Given the description of an element on the screen output the (x, y) to click on. 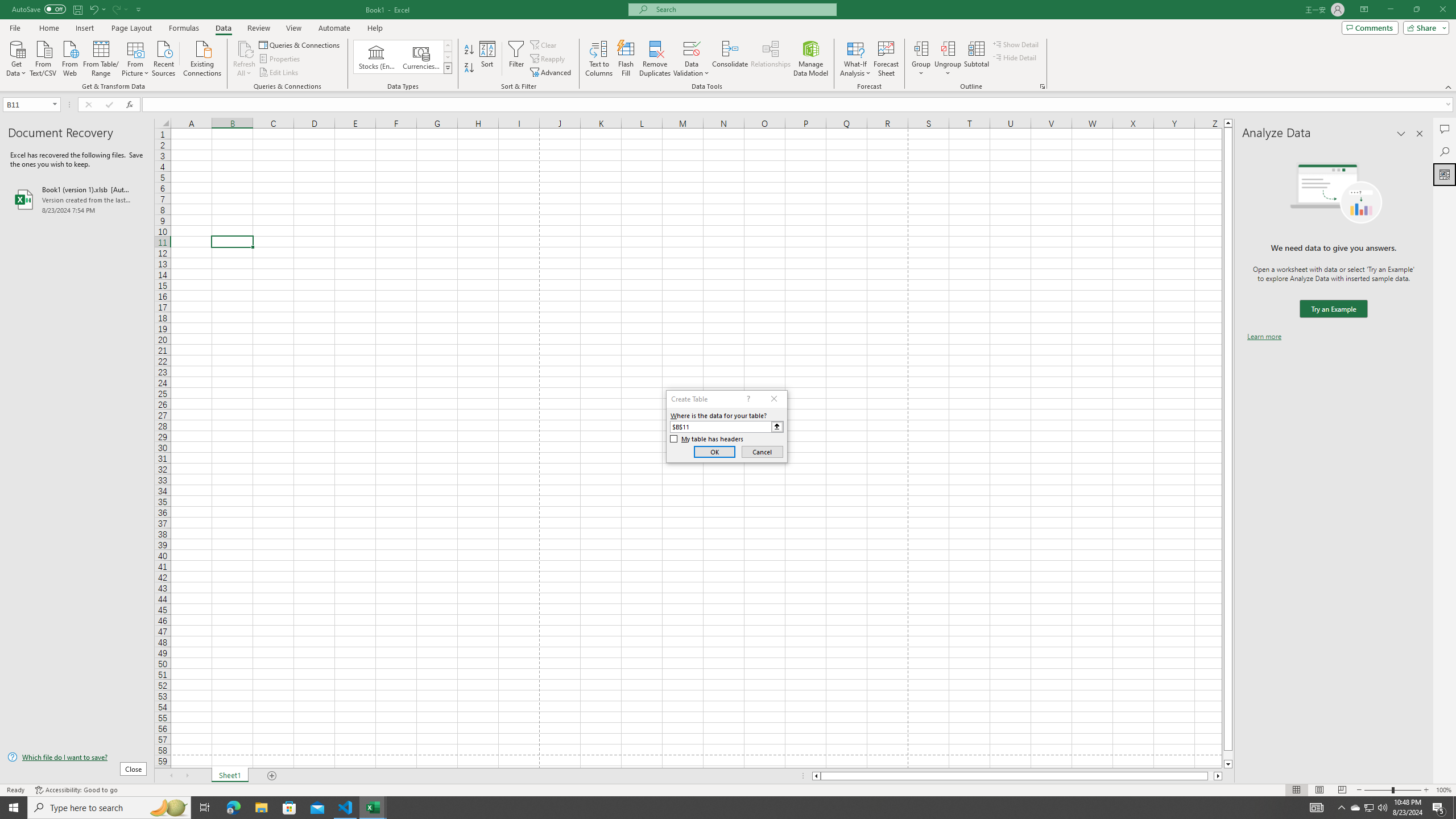
Search (1444, 151)
Data Validation... (691, 58)
Edit Links (279, 72)
Group... (921, 58)
Ungroup... (947, 58)
Sort... (487, 58)
AutomationID: ConvertToLinkedEntity (403, 56)
Data Validation... (691, 48)
